Given the description of an element on the screen output the (x, y) to click on. 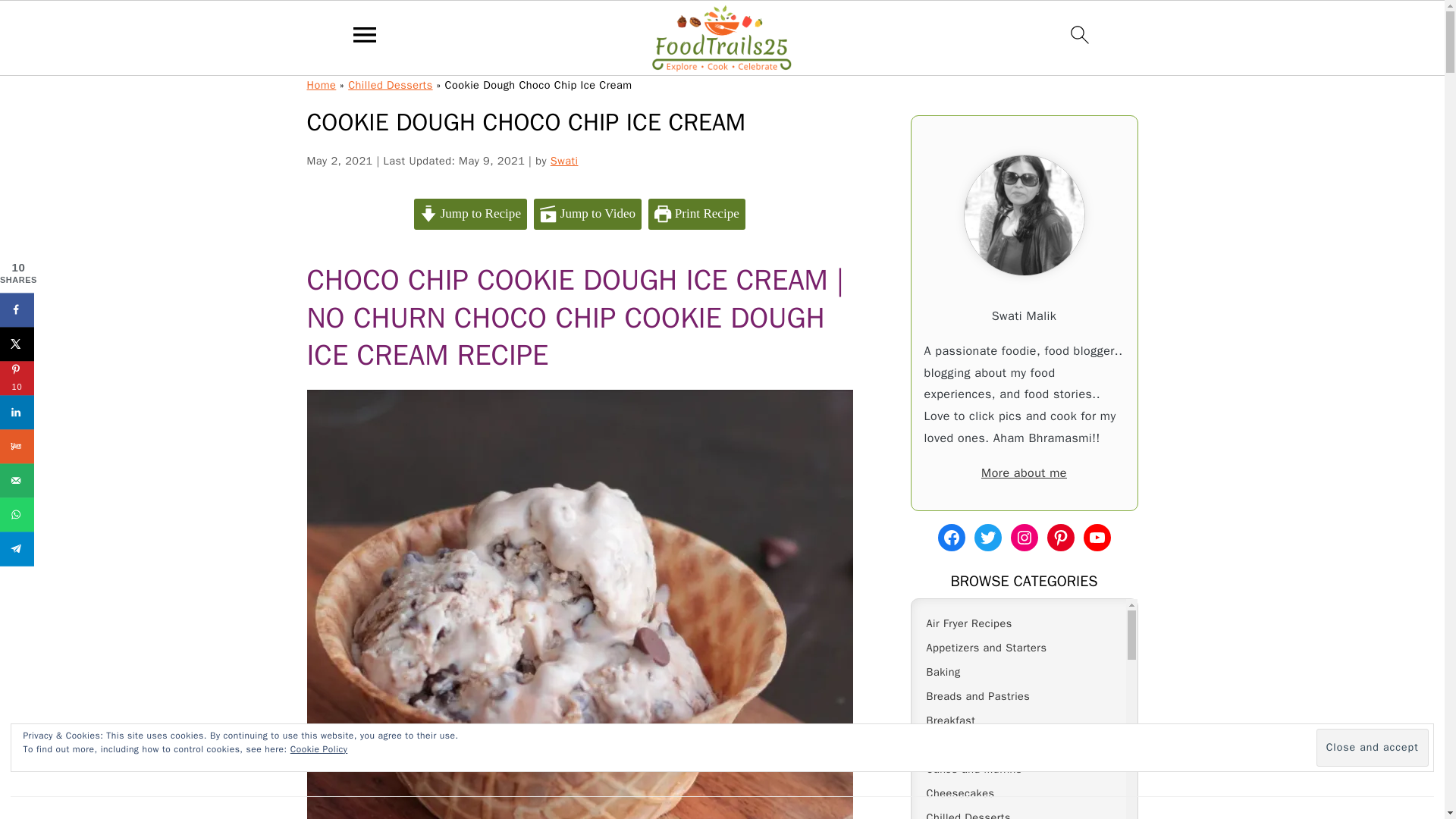
menu icon (365, 34)
Chilled Desserts (389, 84)
Jump to Video (588, 214)
Jump to Recipe (470, 214)
Home (320, 84)
search icon (1080, 34)
Close and accept (1372, 747)
Swati (564, 160)
